Given the description of an element on the screen output the (x, y) to click on. 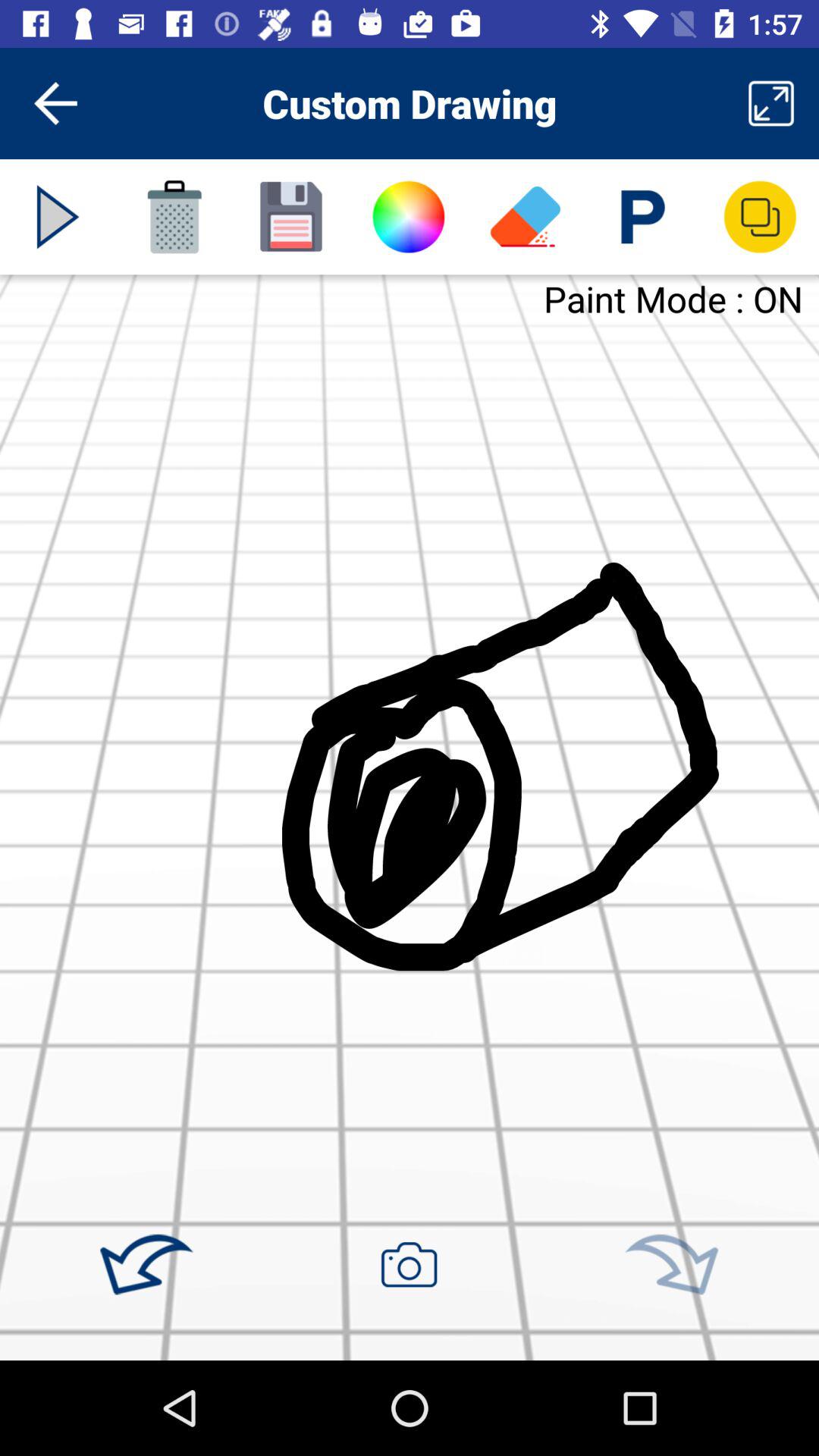
take a photo (408, 1264)
